Given the description of an element on the screen output the (x, y) to click on. 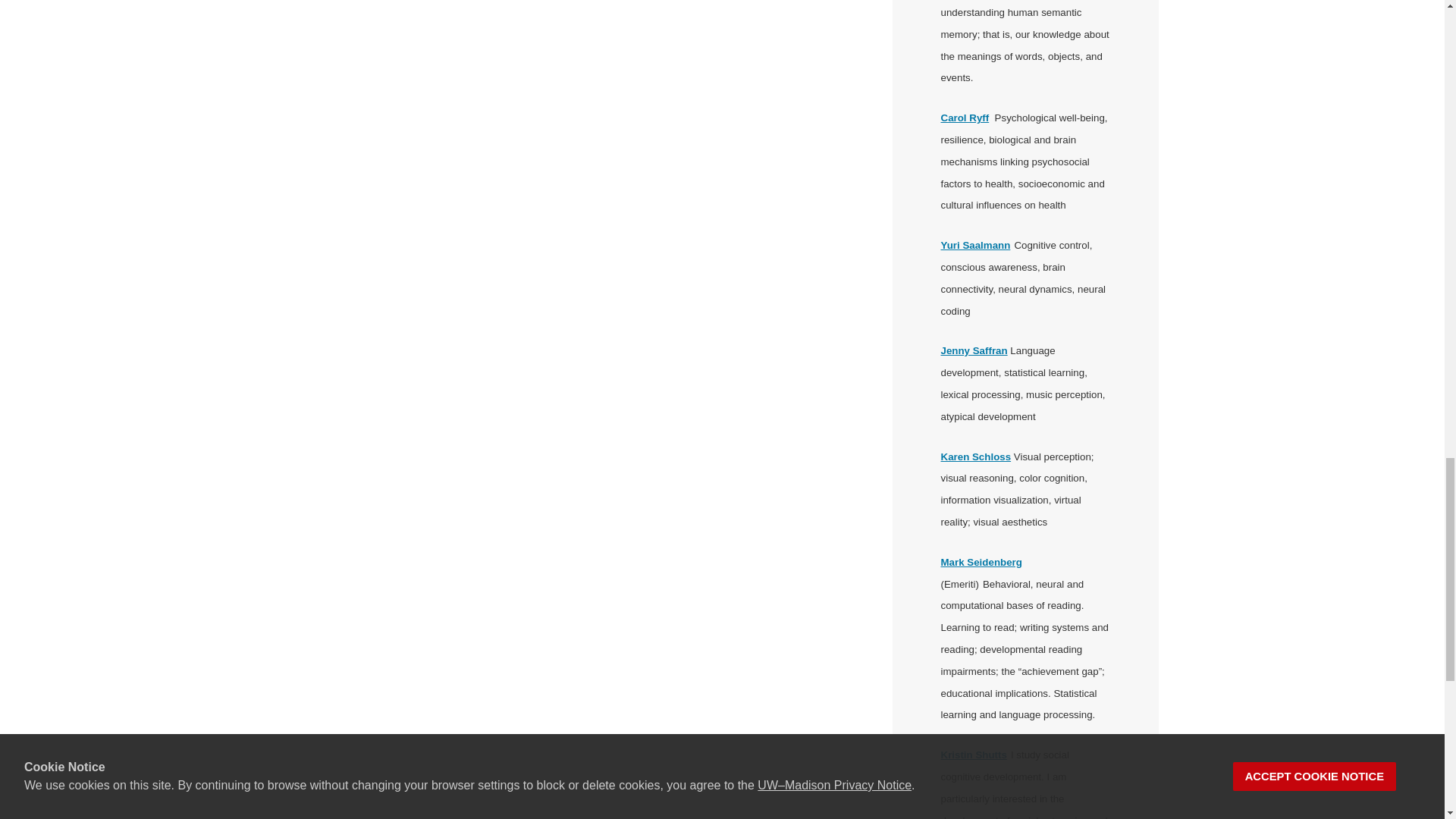
Yuri Saalmann Faculty Page (975, 244)
Kristin Shutts Faculty-Staff Page (973, 754)
Jenny Saffran Faculty-Staff Page (973, 350)
Mark S. Seidenberg Faculty-Staff Page (981, 562)
Karen Schloss Faculty-Staff Page (975, 456)
Carol Ryff Faculty-Staff Page (964, 117)
